Given the description of an element on the screen output the (x, y) to click on. 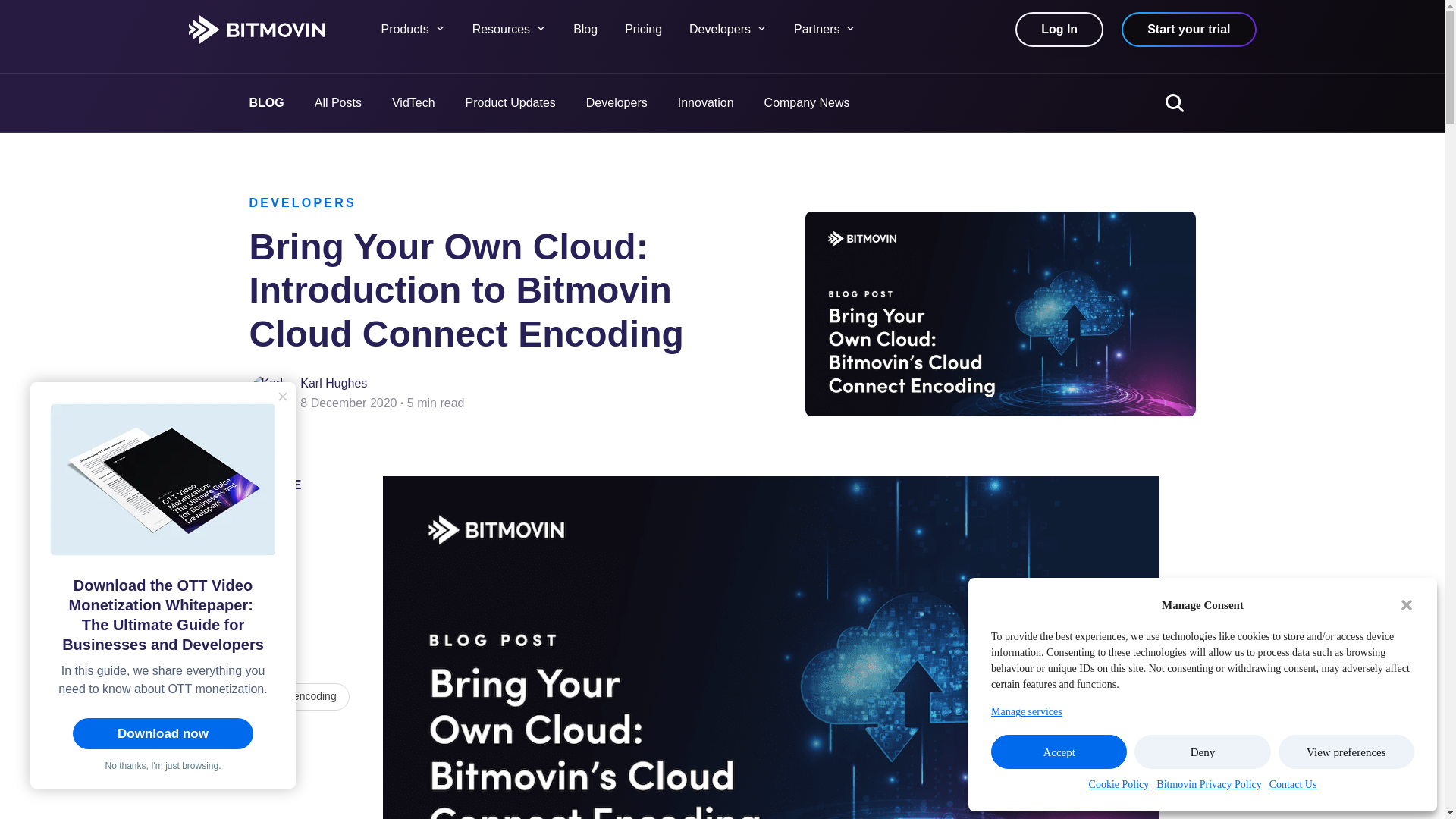
Deny (1201, 751)
Download now (162, 733)
No thanks, I'm just browsing. (162, 762)
video encoding (300, 696)
Manage services (1026, 711)
View preferences (1345, 751)
Karl Hughes (332, 382)
Contact Us (1293, 784)
Products (425, 29)
Bitmovin Privacy Policy (1208, 784)
Close (283, 396)
Cookie Policy (1119, 784)
Accept (1058, 751)
